Given the description of an element on the screen output the (x, y) to click on. 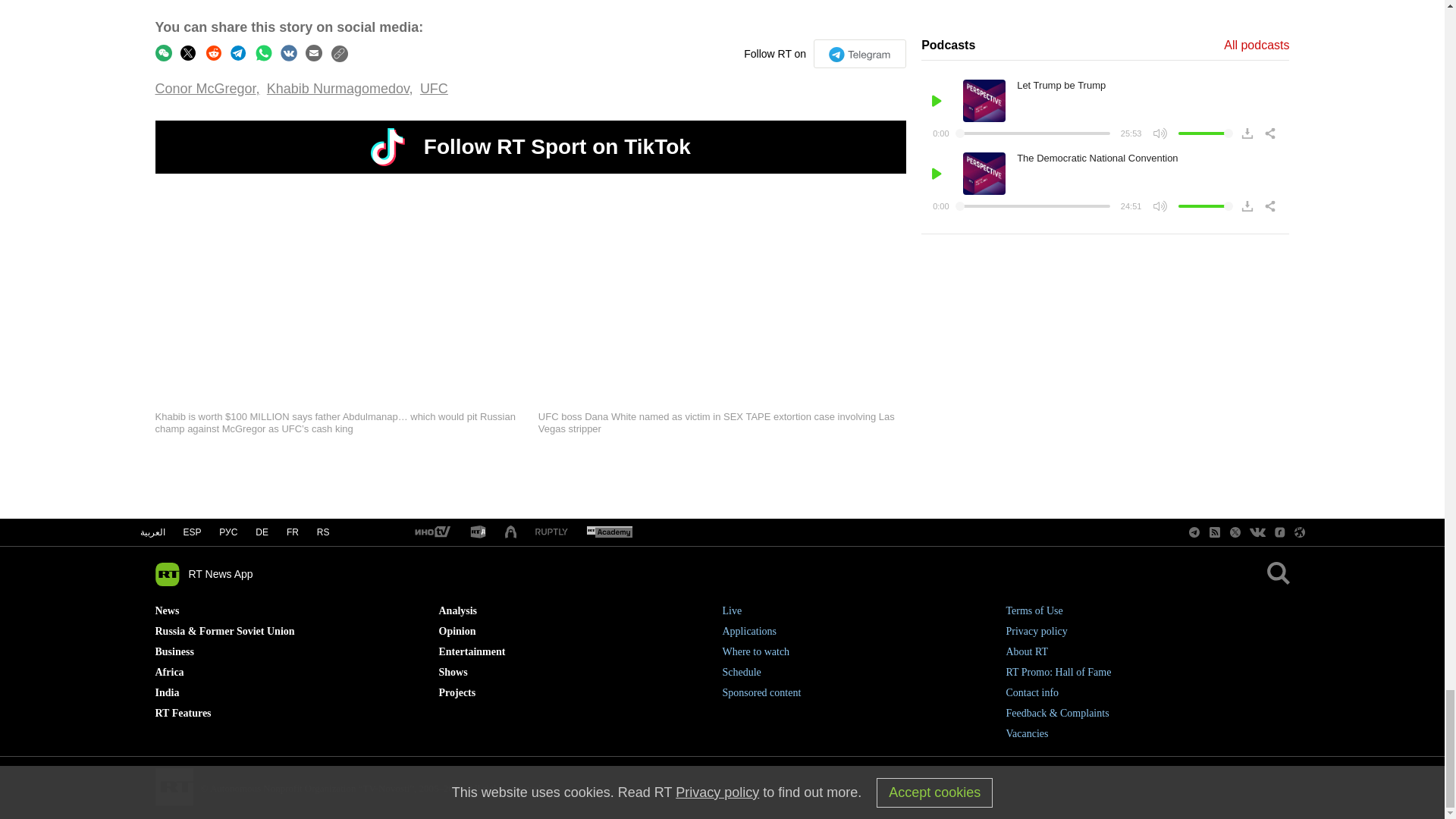
RT  (551, 532)
RT  (608, 532)
RT  (431, 532)
RT  (478, 532)
